Given the description of an element on the screen output the (x, y) to click on. 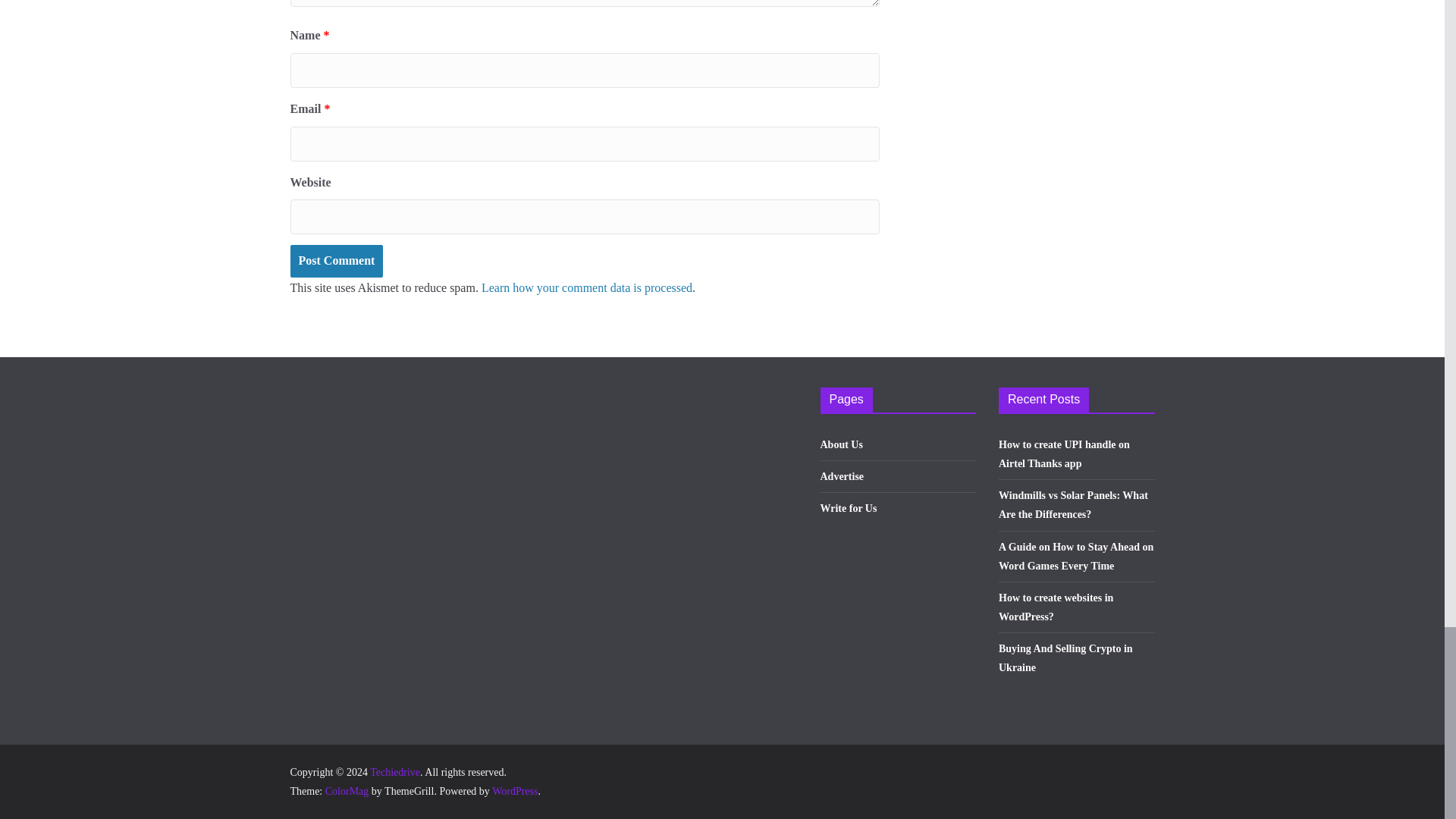
Post Comment (335, 260)
Learn how your comment data is processed (587, 287)
Post Comment (335, 260)
